Given the description of an element on the screen output the (x, y) to click on. 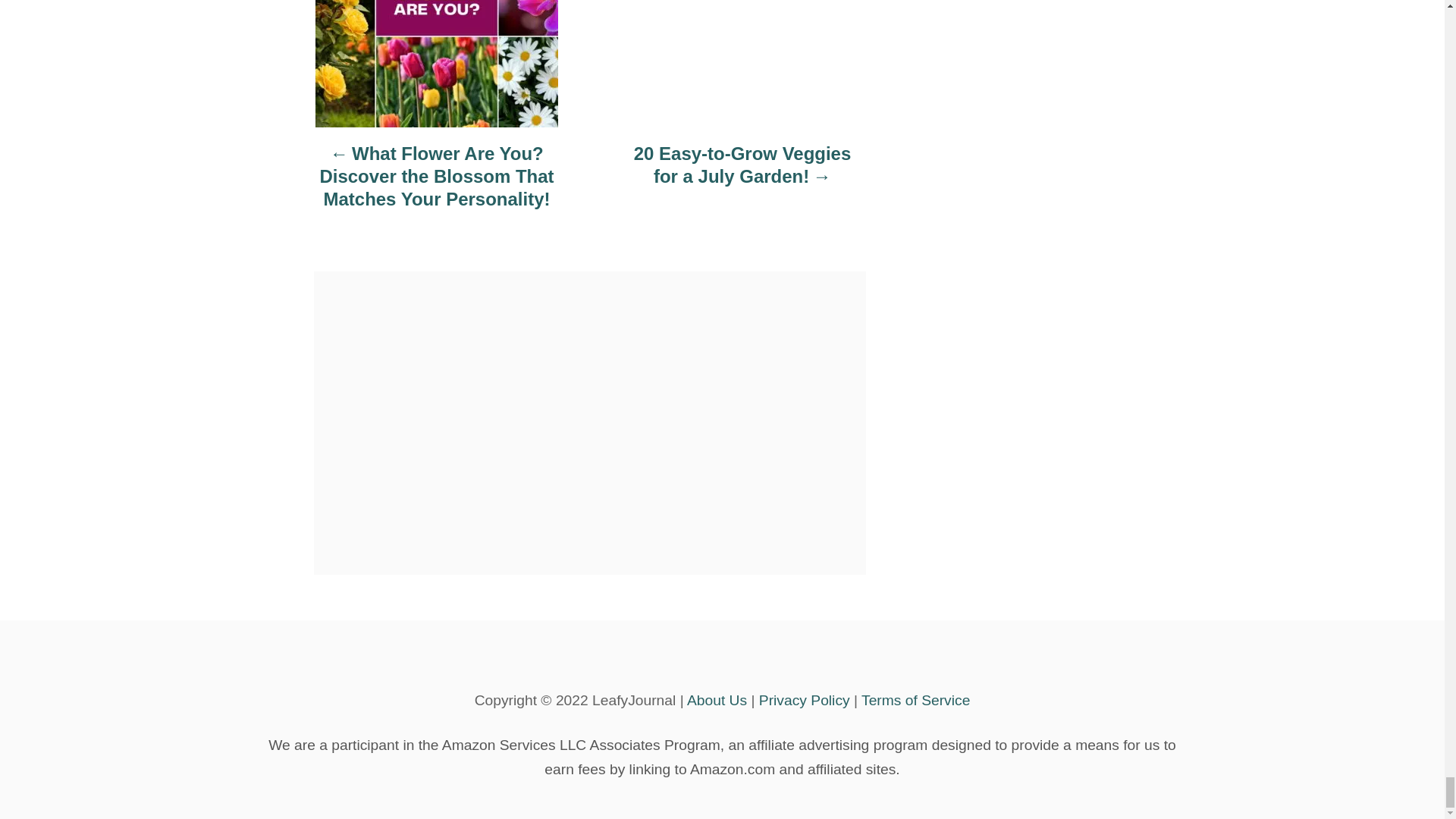
Privacy Policy (804, 700)
20 Easy-to-Grow Veggies for a July Garden! (741, 172)
Terms of Service (915, 700)
About Us (716, 700)
